Given the description of an element on the screen output the (x, y) to click on. 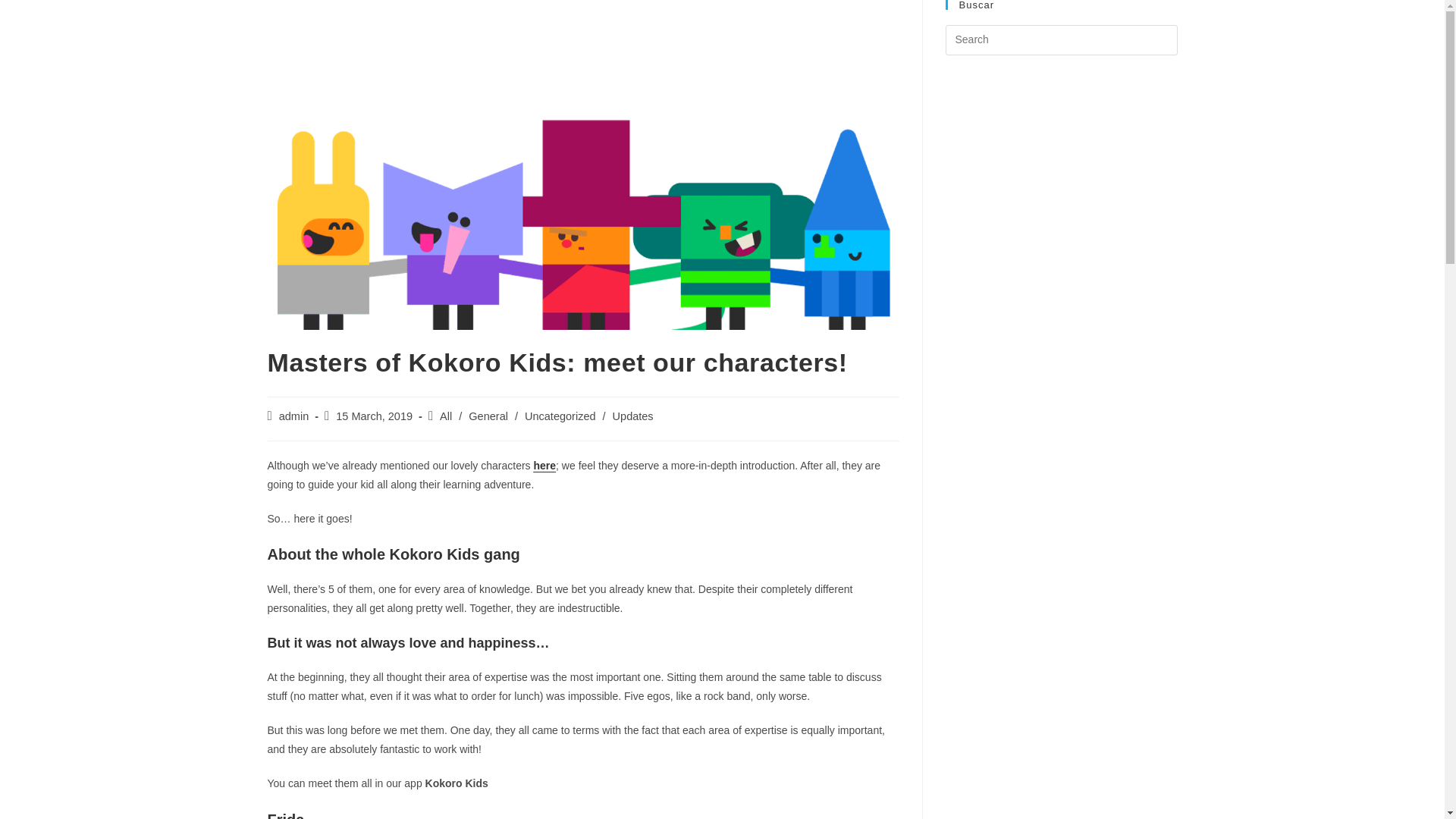
Updates (632, 416)
admin (293, 416)
here (544, 465)
All (445, 416)
Uncategorized (559, 416)
General (488, 416)
Posts by admin (293, 416)
